Given the description of an element on the screen output the (x, y) to click on. 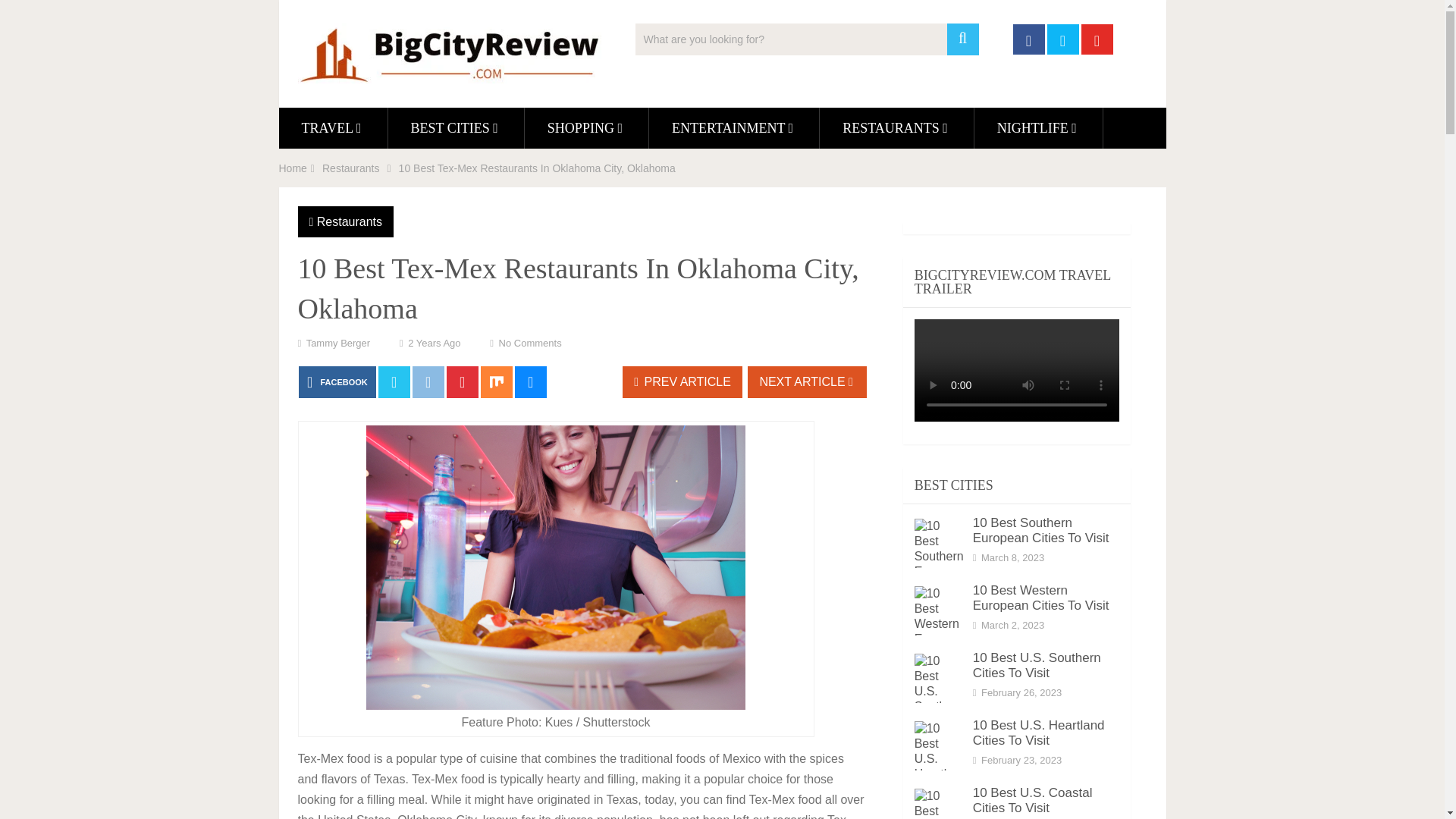
ENTERTAINMENT (733, 127)
No Comments (530, 342)
BEST CITIES (456, 127)
FACEBOOK (336, 382)
SHOPPING (585, 127)
Restaurants (349, 168)
Tammy Berger (338, 342)
PREV ARTICLE (682, 382)
View all posts in Restaurants (349, 221)
Posts by Tammy Berger (338, 342)
